Given the description of an element on the screen output the (x, y) to click on. 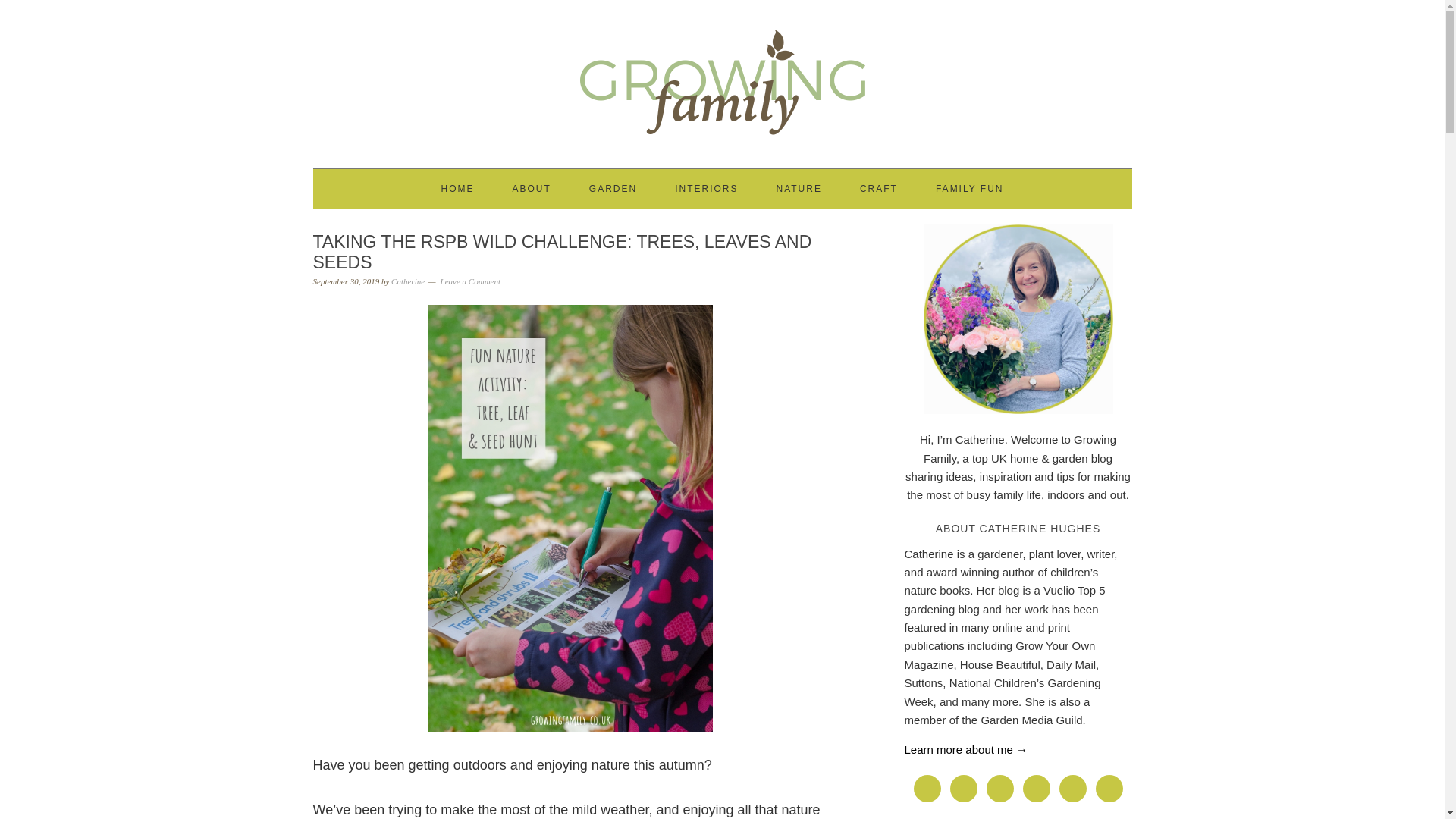
GROWING FAMILY (722, 77)
CRAFT (879, 188)
FAMILY FUN (970, 188)
Catherine (408, 280)
ABOUT (531, 188)
Leave a Comment (470, 280)
INTERIORS (706, 188)
HOME (457, 188)
NATURE (798, 188)
GARDEN (613, 188)
